Given the description of an element on the screen output the (x, y) to click on. 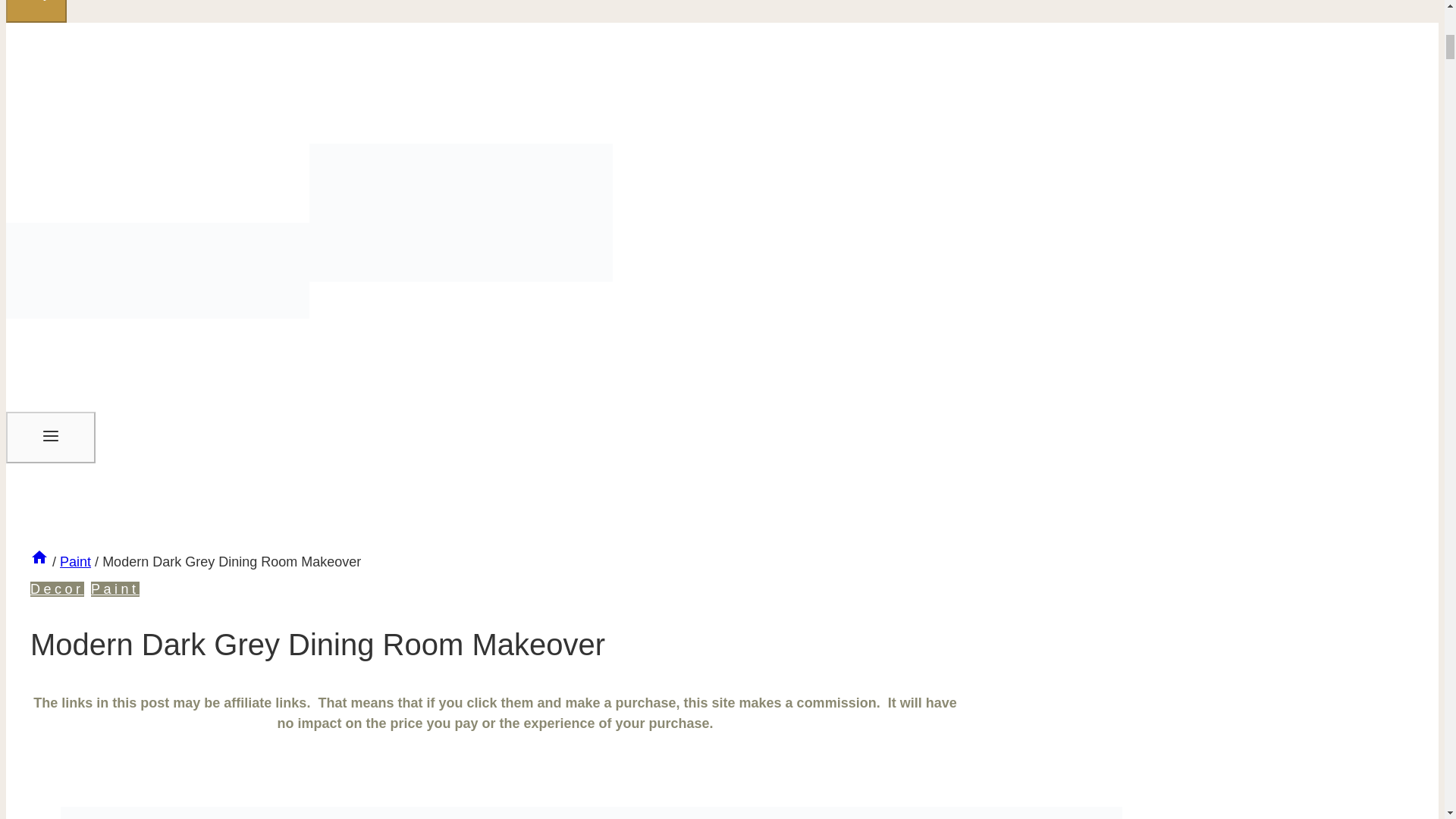
Home (39, 561)
Paint (74, 561)
Paint (114, 589)
Home (39, 556)
TOGGLE MENU (50, 435)
SEARCH (35, 11)
Decor (57, 589)
TOGGLE MENU (50, 437)
Home (39, 561)
